Given the description of an element on the screen output the (x, y) to click on. 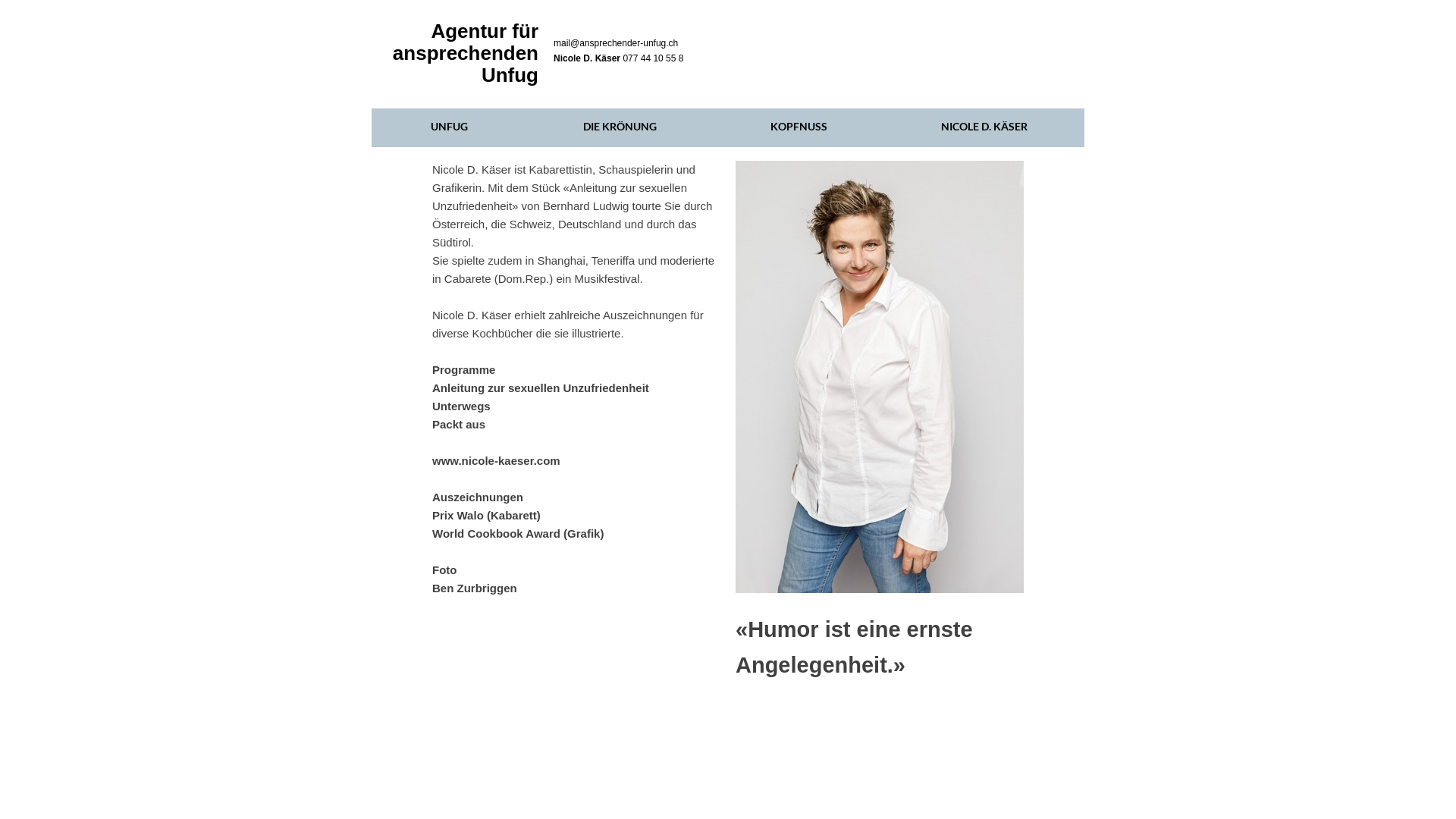
mail@ansprechender-unfug.ch Element type: text (615, 42)
